Given the description of an element on the screen output the (x, y) to click on. 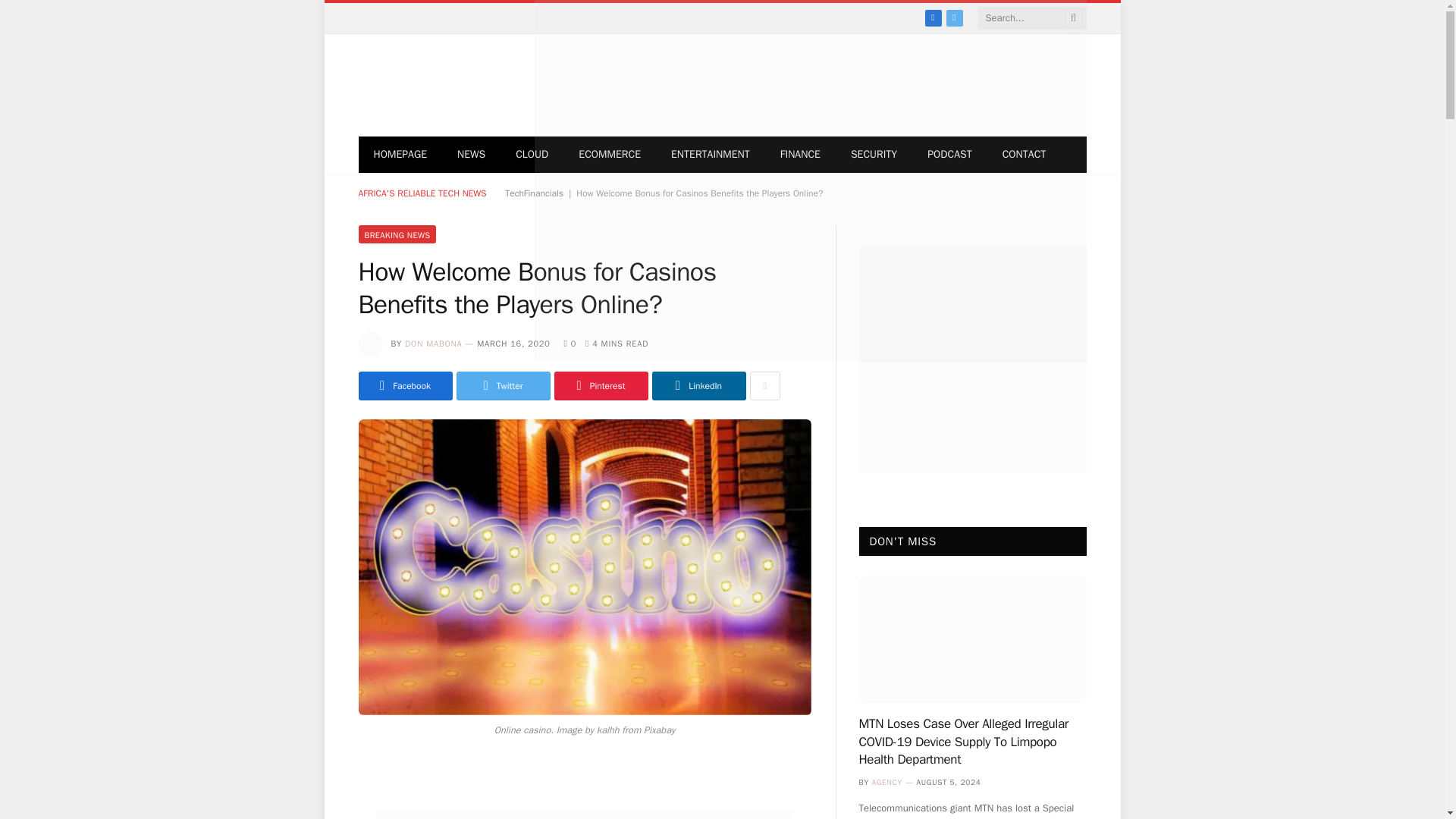
HOMEPAGE (400, 154)
ECOMMERCE (609, 154)
ENTERTAINMENT (710, 154)
Share on Pinterest (600, 385)
Share on LinkedIn (698, 385)
Share on Facebook (404, 385)
CONTACT (1024, 154)
FINANCE (800, 154)
Posts by Don Mabona (432, 343)
TechFinancials (534, 193)
